Given the description of an element on the screen output the (x, y) to click on. 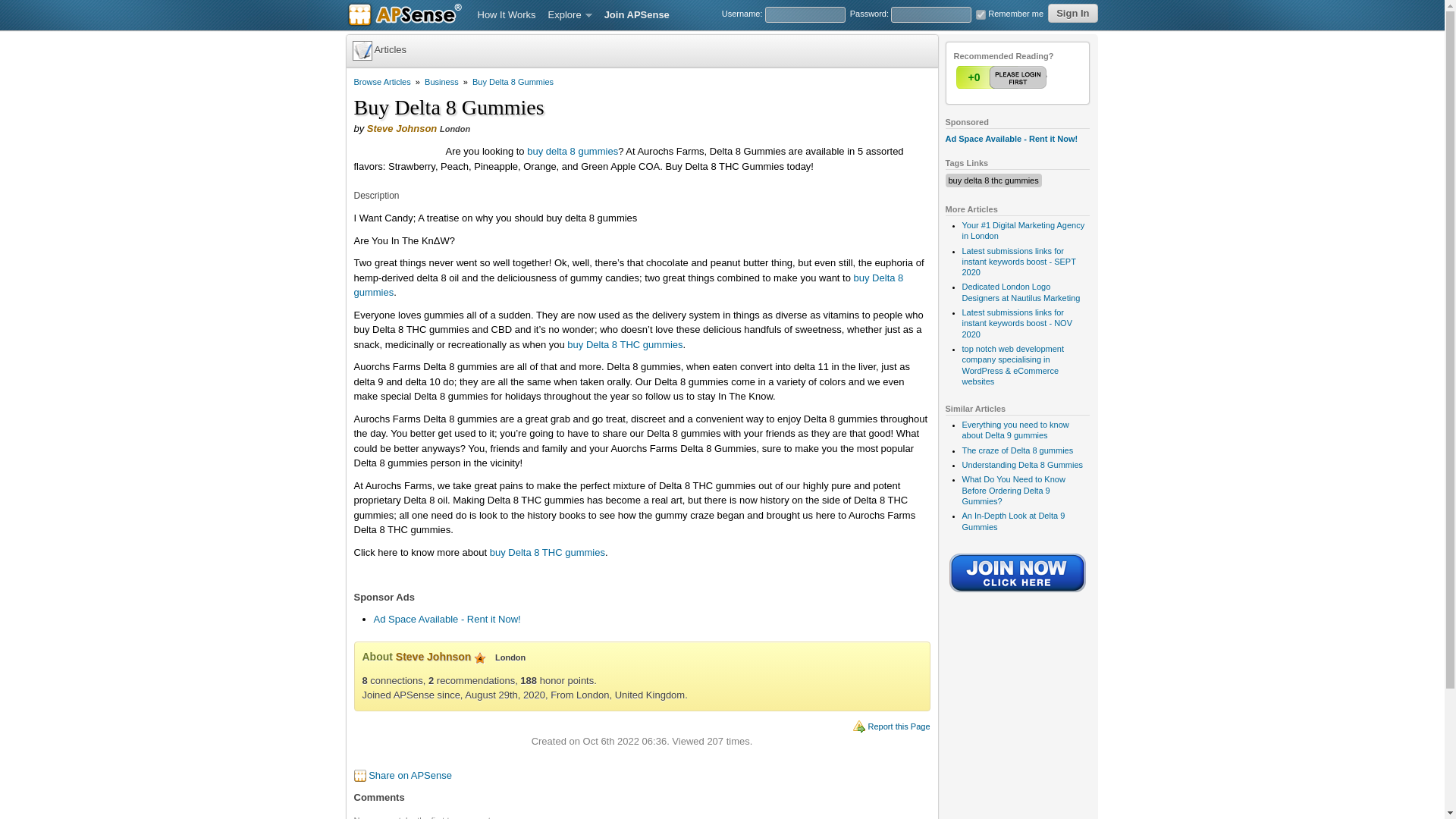
buy delta 8 thc gummies (992, 180)
buy Delta 8 THC gummies (547, 552)
Share on APSense (409, 775)
1 (1002, 77)
Join APSense Social Network (1017, 593)
Sign In (1072, 13)
buy Delta 8 THC gummies (624, 344)
Steve Johnson (401, 128)
Votes Up (973, 77)
Ad Space Available - Rent it Now! (445, 618)
The craze of Delta 8 gummies (1016, 450)
1 (1002, 77)
Business (441, 81)
Report this Page (898, 726)
